Given the description of an element on the screen output the (x, y) to click on. 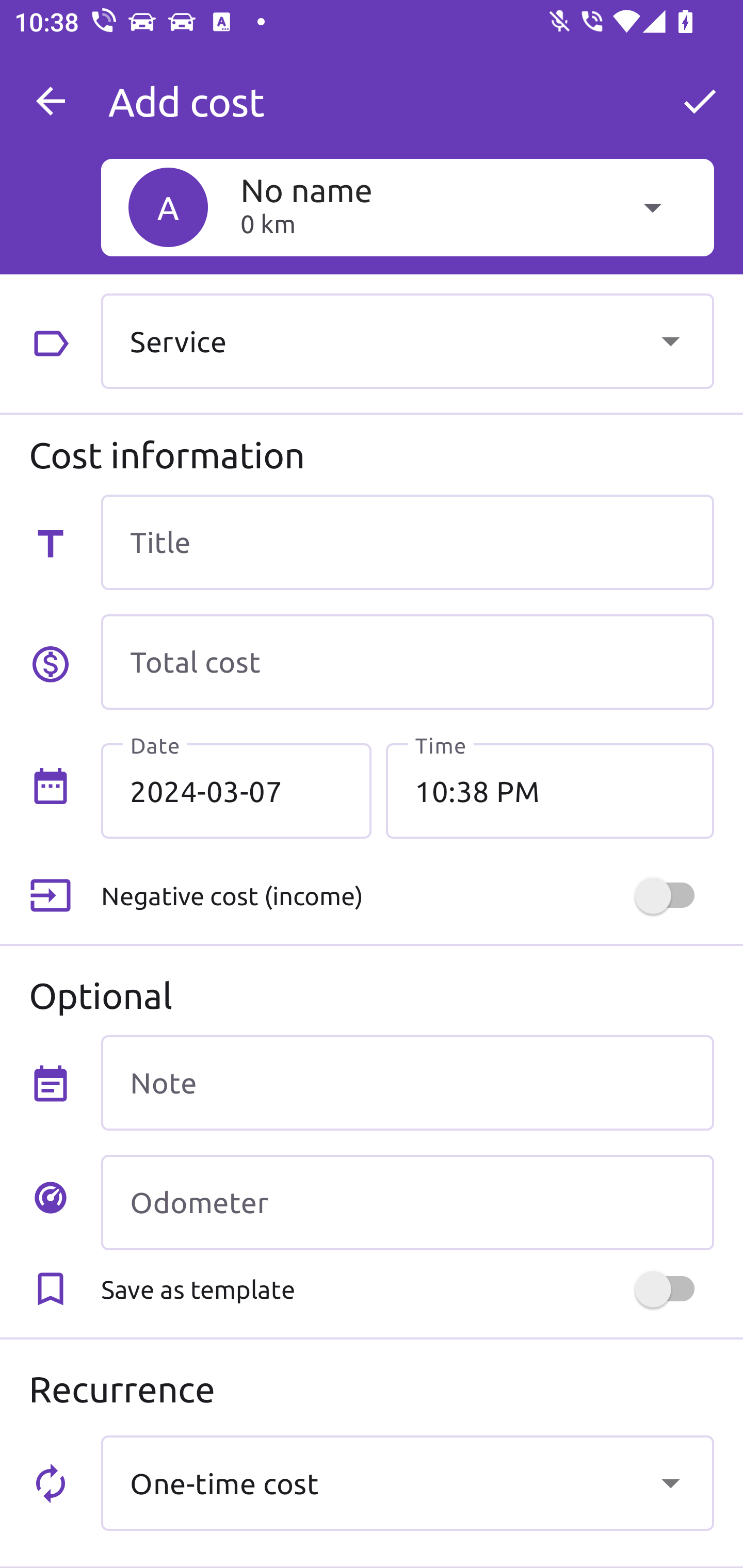
Navigate up (50, 101)
OK (699, 101)
A No name 0 km (407, 206)
Service (407, 340)
Show dropdown menu (670, 340)
Title (407, 541)
Total cost  (407, 662)
2024-03-07 (236, 790)
10:38 PM (549, 790)
Negative cost (income) (407, 895)
Note (407, 1082)
Odometer (407, 1202)
Save as template (407, 1289)
One-time cost (407, 1482)
Show dropdown menu (670, 1482)
